Given the description of an element on the screen output the (x, y) to click on. 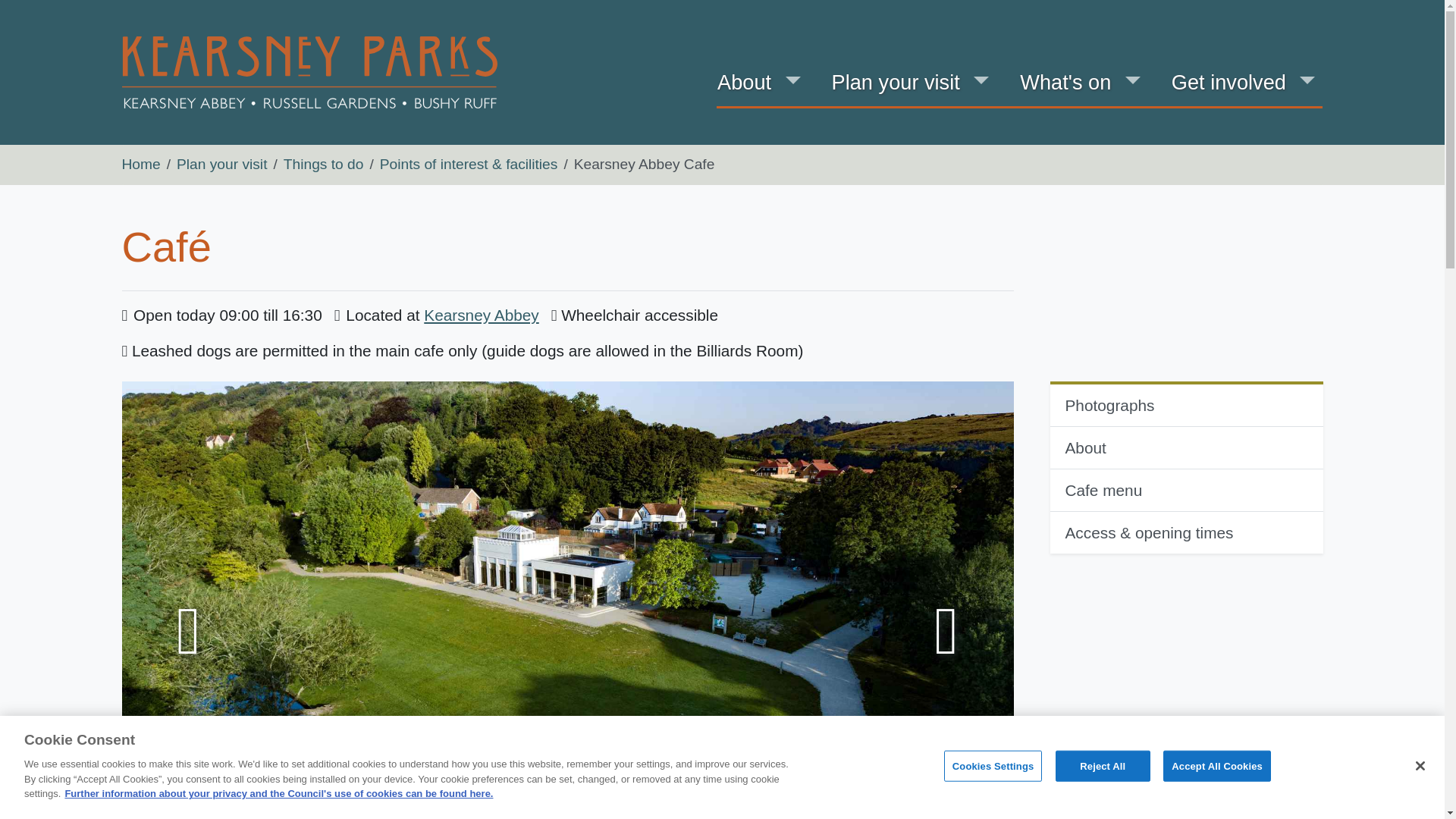
Photographs (1185, 404)
Plan your visit (221, 163)
What's on (1065, 82)
Home (140, 163)
About (1185, 447)
Skip to main content (132, 11)
Things to do (323, 163)
About (743, 82)
Get involved (1228, 82)
Kearsney Abbey (480, 314)
Cafe menu (1185, 490)
Plan your visit (895, 82)
